Given the description of an element on the screen output the (x, y) to click on. 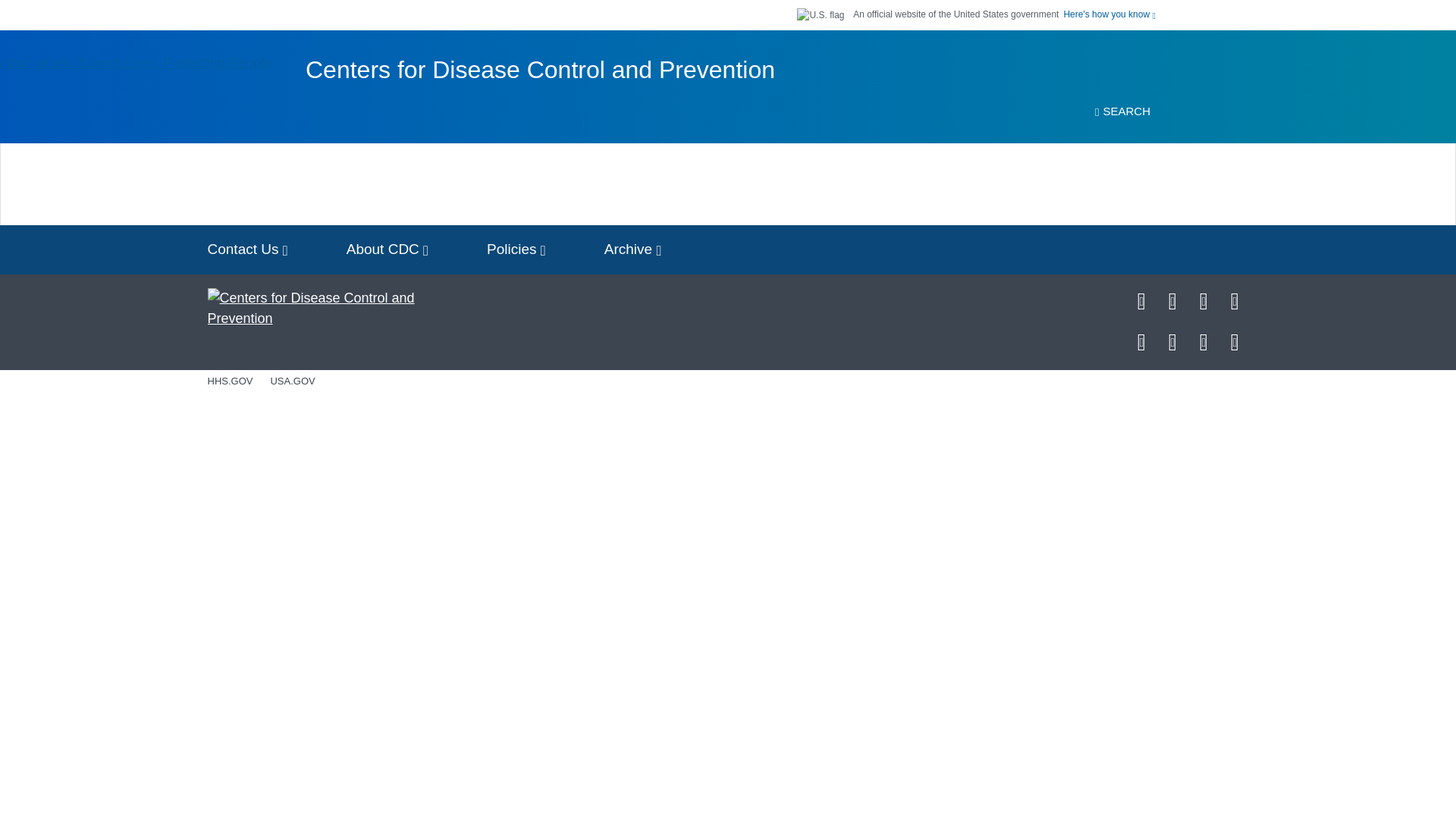
Contact Us (247, 249)
About CDC (387, 249)
Policies (516, 249)
Here's how you know (1108, 14)
SEARCH (1122, 111)
Centers for Disease Control and Prevention (539, 69)
Archive (633, 249)
